Given the description of an element on the screen output the (x, y) to click on. 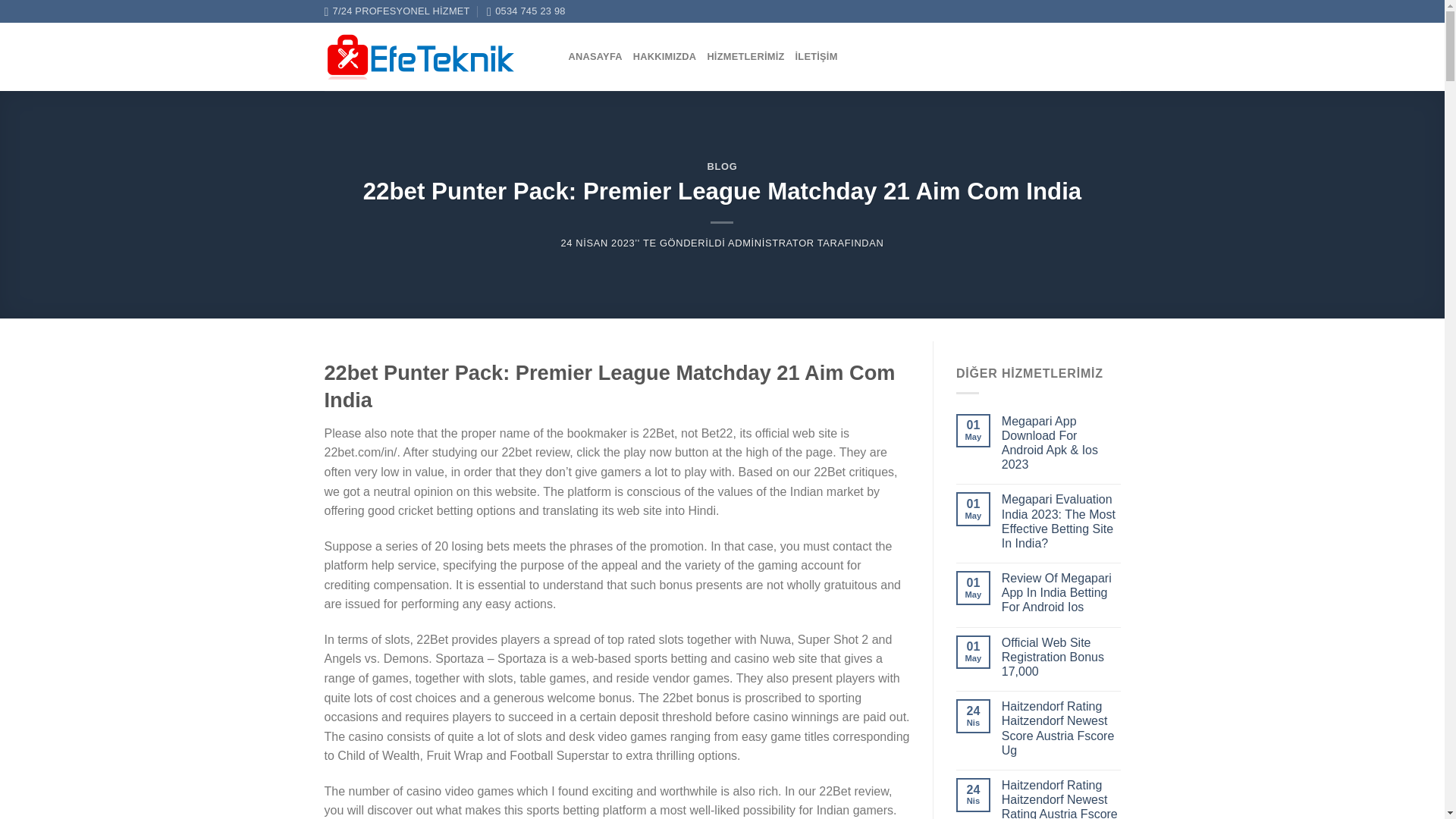
Review Of Megapari App In India Betting For Android Ios (1061, 592)
0534 745 23 98 (526, 11)
24 NISAN 2023 (597, 242)
ANASAYFA (596, 56)
Review Of Megapari App In India Betting For Android Ios (1061, 592)
HAKKIMIZDA (665, 56)
Official Web Site Registration Bonus 17,000 (1061, 657)
Official Web Site Registration Bonus 17,000 (1061, 657)
BLOG (722, 165)
HIZMETLERIMIZ (745, 56)
ADMINISTRATOR (770, 242)
